Given the description of an element on the screen output the (x, y) to click on. 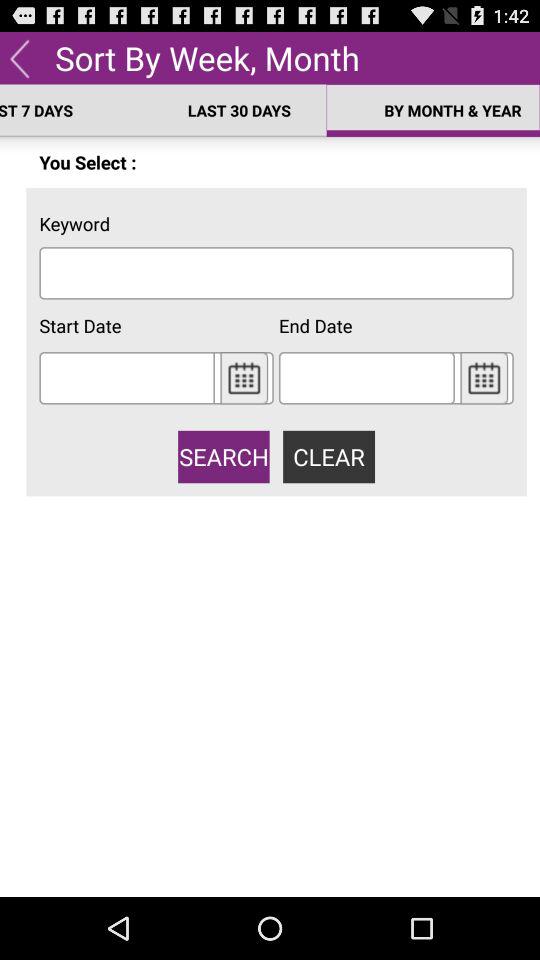
pick start date (126, 377)
